Given the description of an element on the screen output the (x, y) to click on. 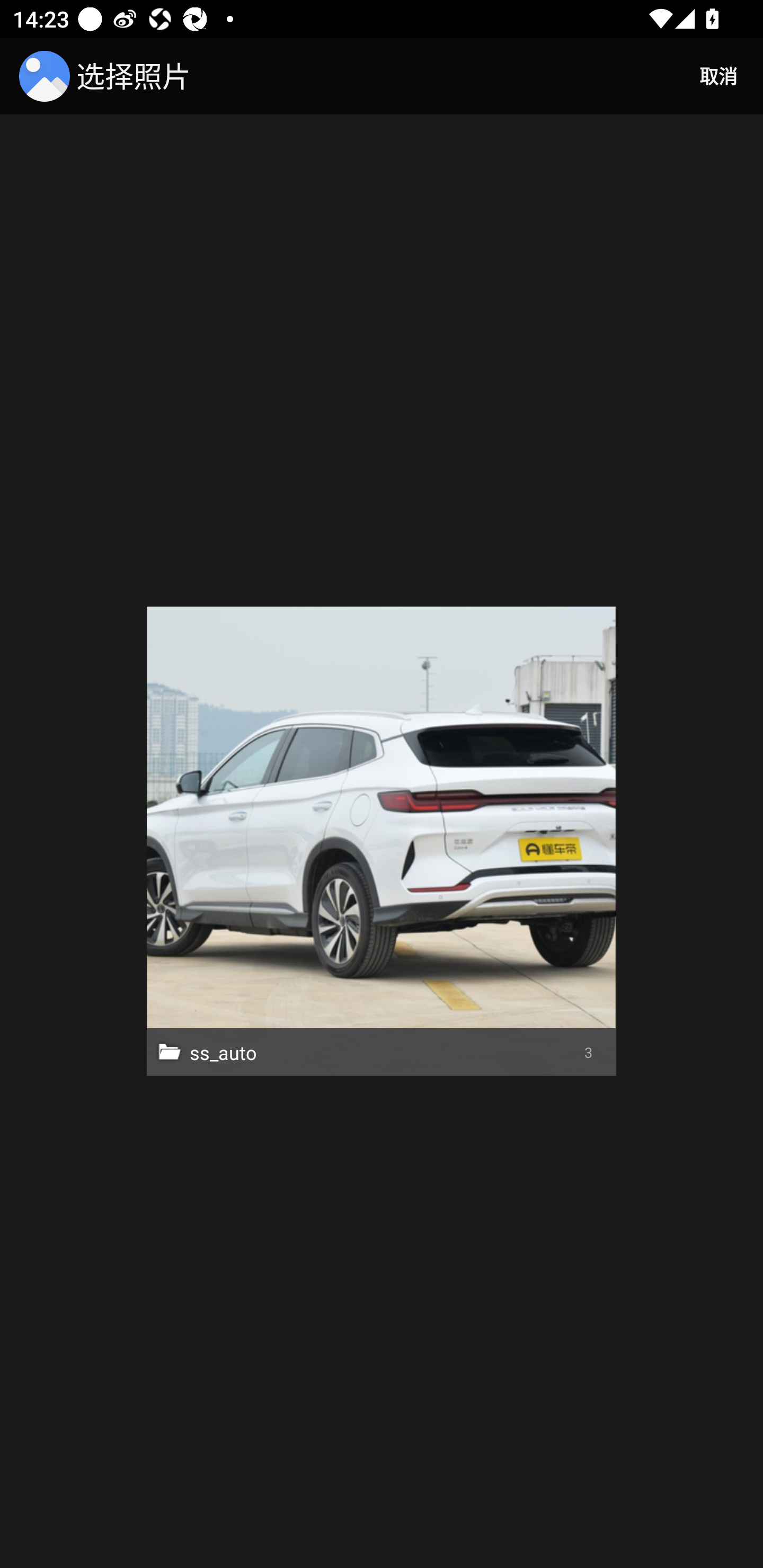
选择照片 (107, 75)
取消 (718, 75)
